Given the description of an element on the screen output the (x, y) to click on. 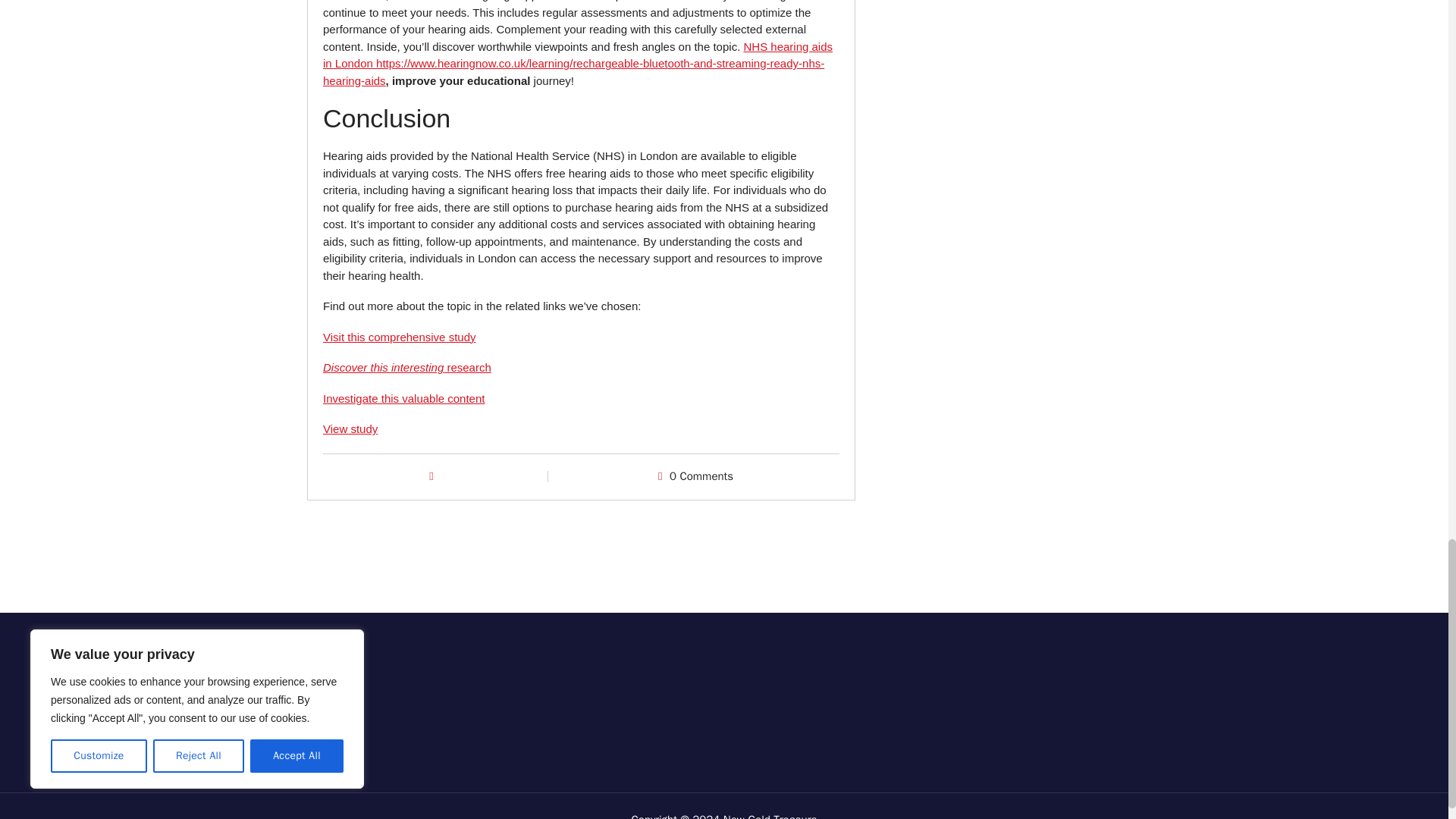
Investigate this valuable content (403, 398)
Visit this comprehensive study (399, 336)
Discover this interesting research (407, 367)
